Given the description of an element on the screen output the (x, y) to click on. 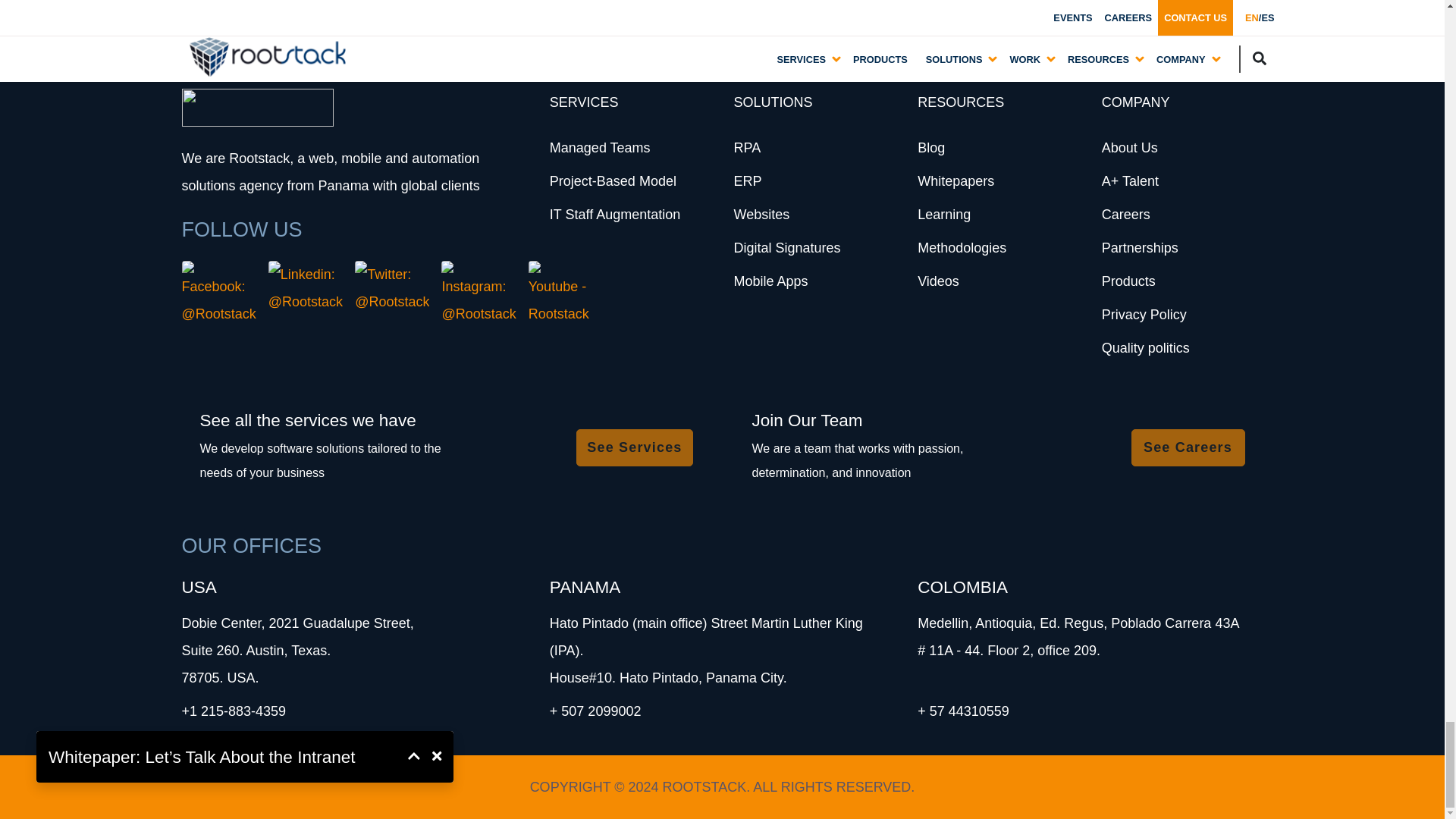
IT Staff Augmentation (614, 214)
RPA (746, 147)
Managed Teams (600, 147)
Project-Based Model (613, 181)
Youtube - Rootstack (558, 294)
Websites (761, 214)
Youtube - Rootstack (558, 294)
ERP (747, 181)
